Given the description of an element on the screen output the (x, y) to click on. 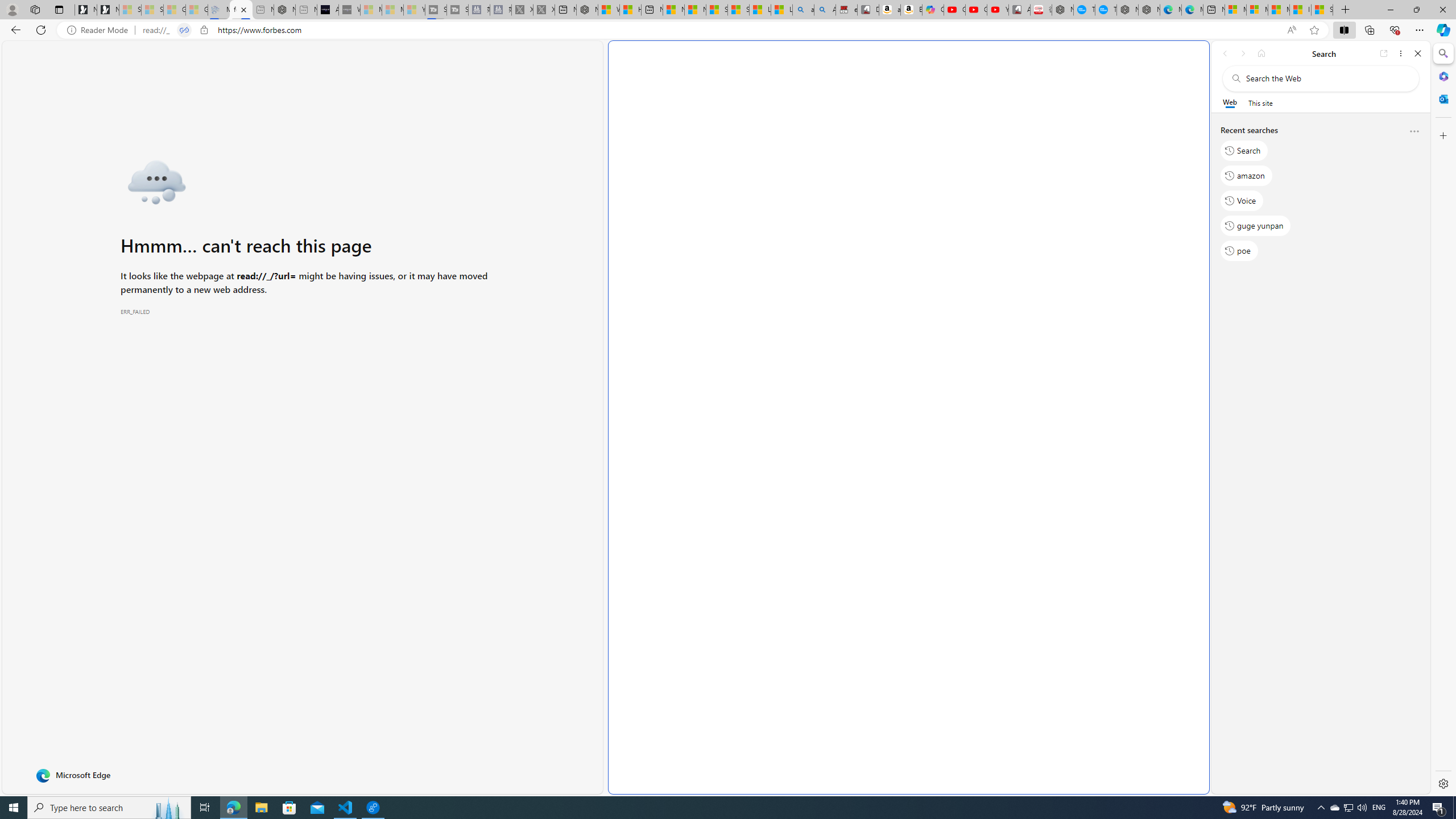
AI Voice Changer for PC and Mac - Voice.ai (327, 9)
Nordace - My Account (1062, 9)
Search the web (1326, 78)
Copilot (933, 9)
Amazon Echo Dot PNG - Search Images (824, 9)
Recent searchesSearchamazonVoiceguge yunpanpoe (1320, 194)
guge yunpan (1255, 225)
